Given the description of an element on the screen output the (x, y) to click on. 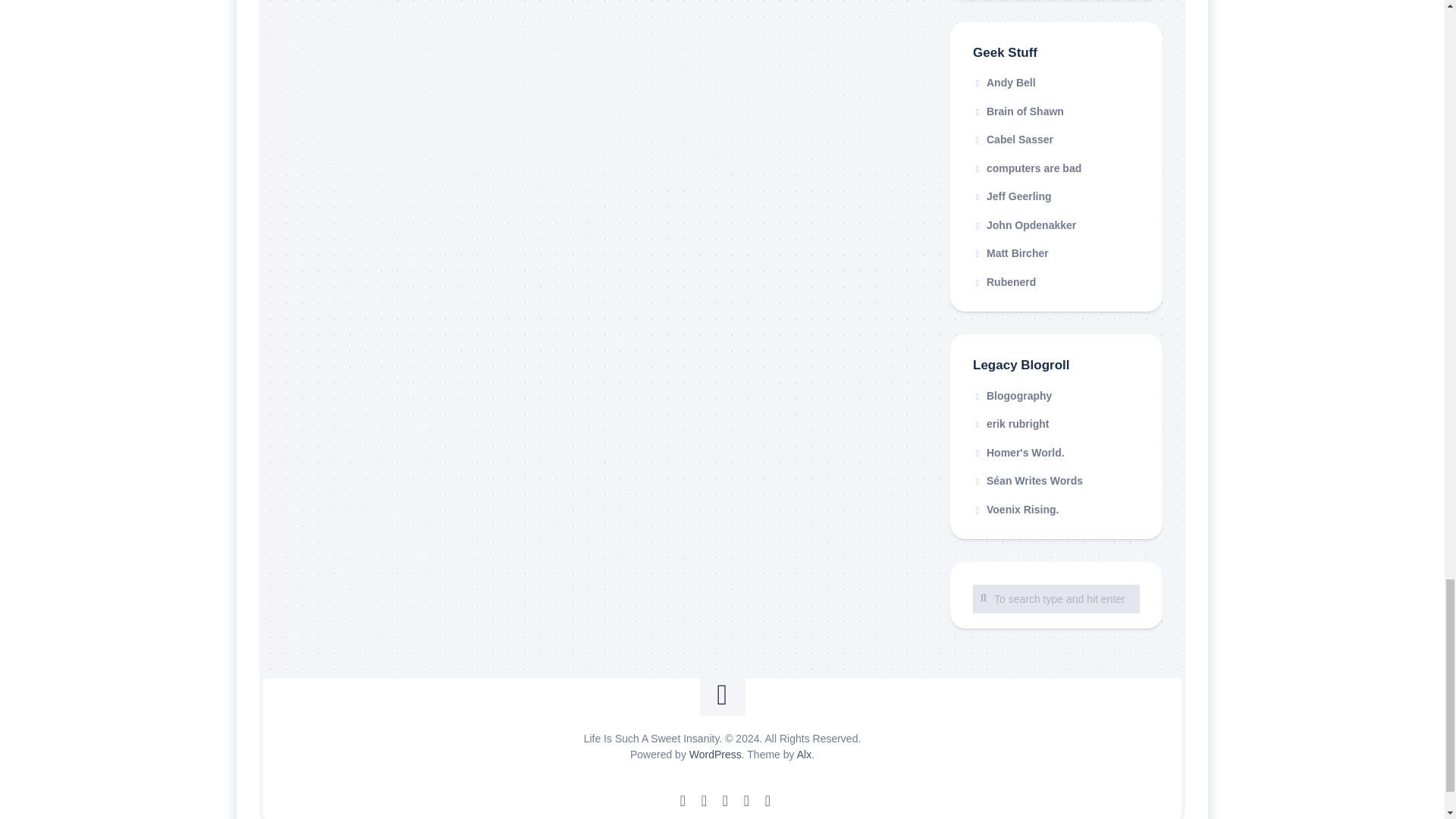
To search type and hit enter (1056, 598)
To search type and hit enter (1056, 598)
